Given the description of an element on the screen output the (x, y) to click on. 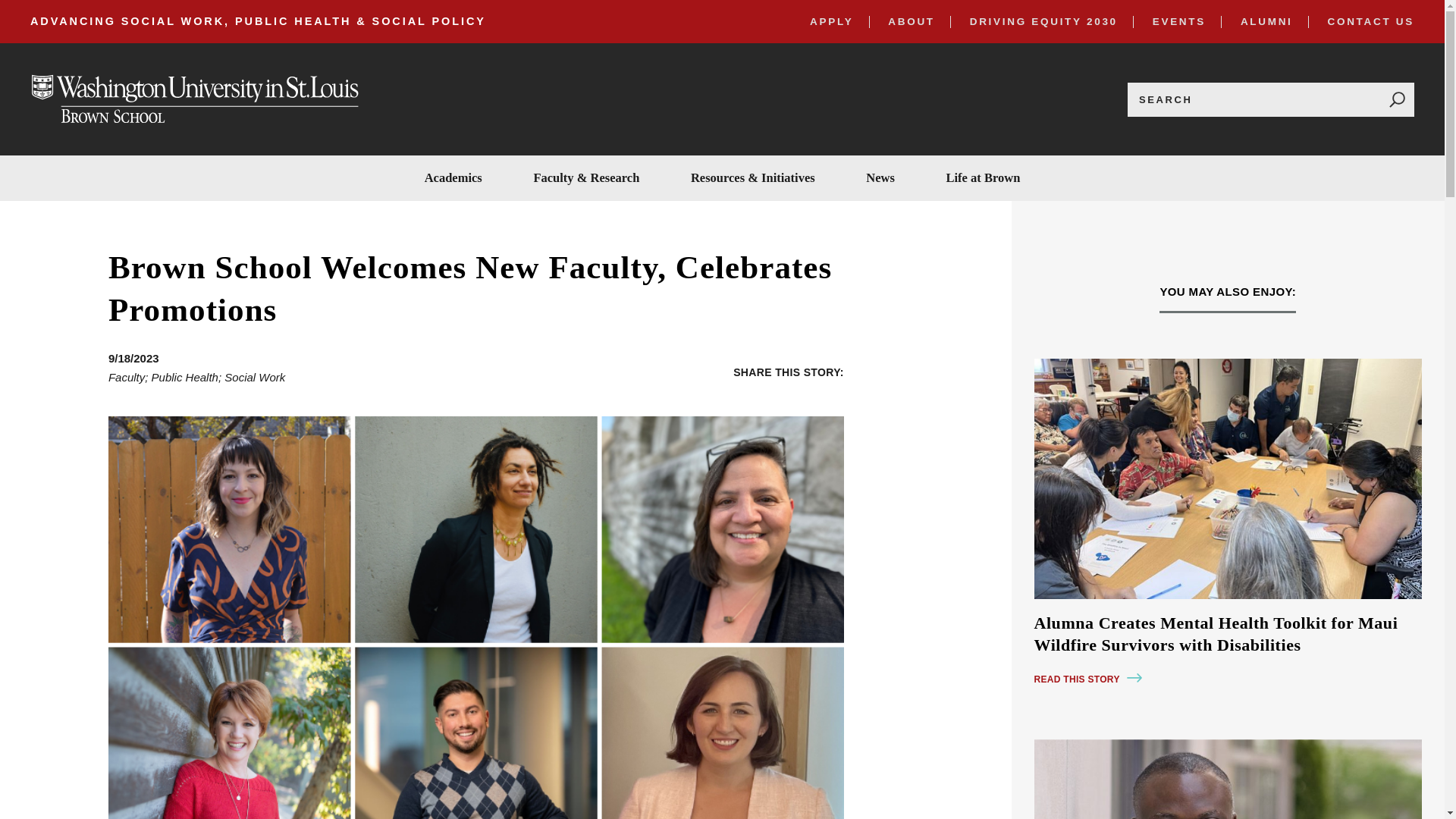
Academics (453, 177)
Faculty (125, 377)
Social Work (254, 377)
Public Health (184, 377)
News (880, 177)
